Given the description of an element on the screen output the (x, y) to click on. 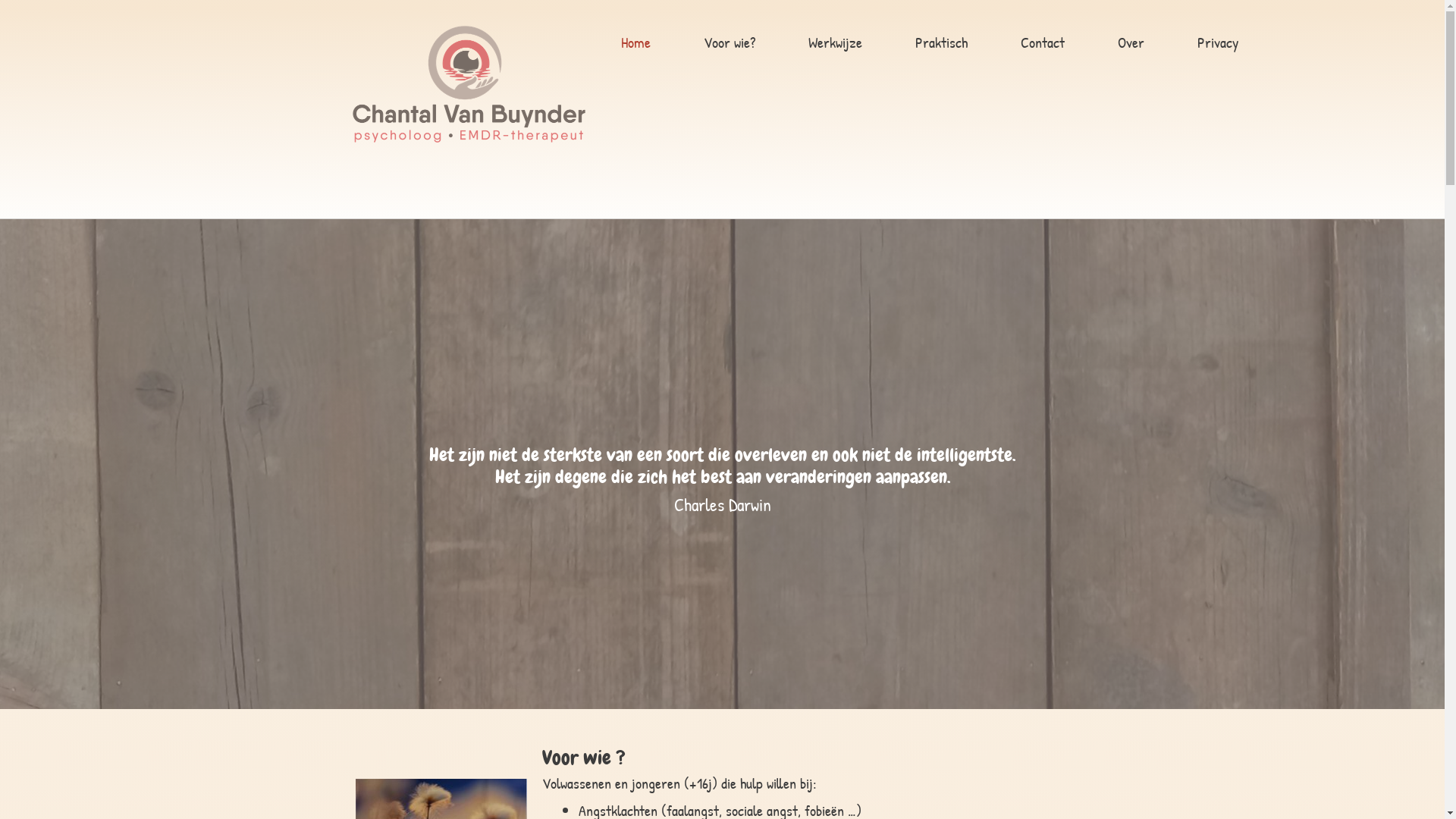
Privacy Element type: text (1217, 43)
Home Element type: text (635, 43)
Contact Element type: text (1041, 43)
Over Element type: text (1130, 43)
Praktisch Element type: text (941, 43)
Werkwijze Element type: text (834, 43)
Voor wie? Element type: text (728, 43)
